Given the description of an element on the screen output the (x, y) to click on. 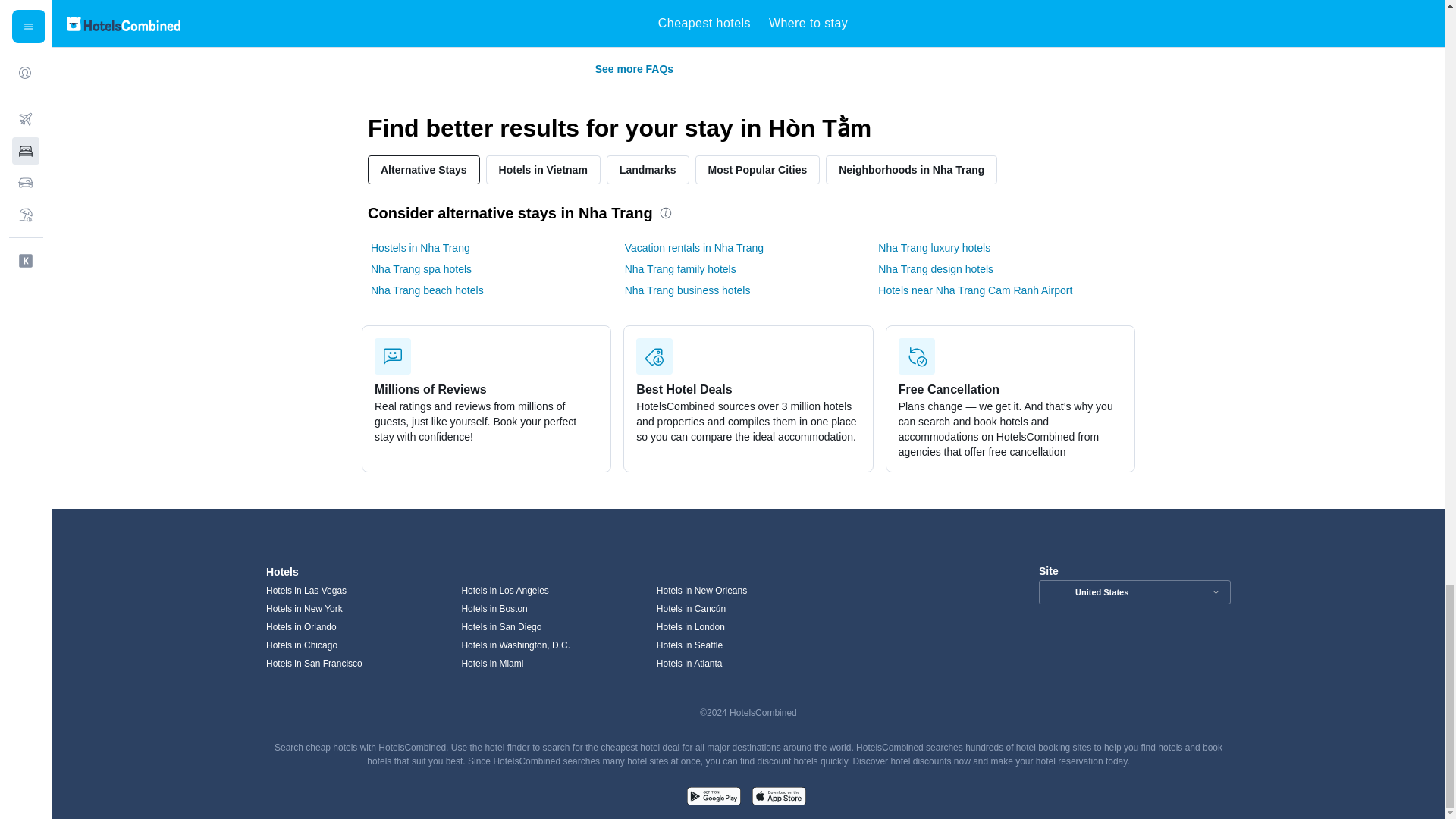
Hostels in Nha Trang (420, 247)
Download on the App Store (778, 797)
Get it on Google Play (713, 797)
Nha Trang business hotels (687, 290)
Hotels in Vietnam (542, 169)
Nha Trang beach hotels (427, 290)
Hotels near Nha Trang Cam Ranh Airport (974, 290)
Nha Trang family hotels (680, 268)
Most Popular Cities (758, 169)
Alternative Stays (424, 169)
Neighborhoods in Nha Trang (911, 169)
Nha Trang luxury hotels (933, 247)
Landmarks (647, 169)
Vacation rentals in Nha Trang (693, 247)
Nha Trang design hotels (934, 268)
